Given the description of an element on the screen output the (x, y) to click on. 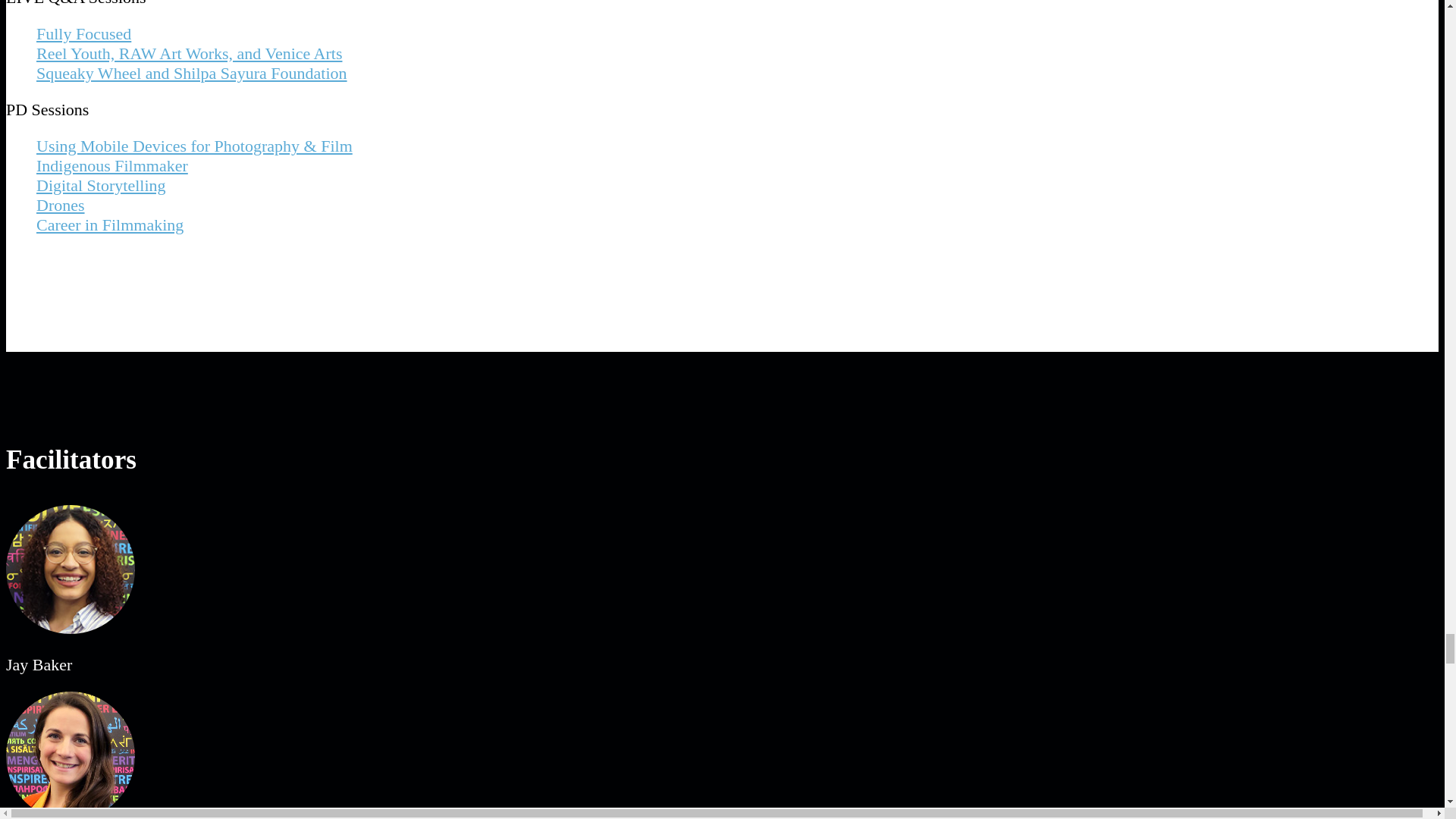
Digital Storytelling (100, 185)
Indigenous Filmmaker (111, 165)
Fully Focused (83, 33)
Squeaky Wheel and Shilpa Sayura Foundation (191, 72)
Reel Youth, RAW Art Works, and Venice Arts (189, 53)
Drones (60, 204)
Career in Filmmaking (109, 224)
